Given the description of an element on the screen output the (x, y) to click on. 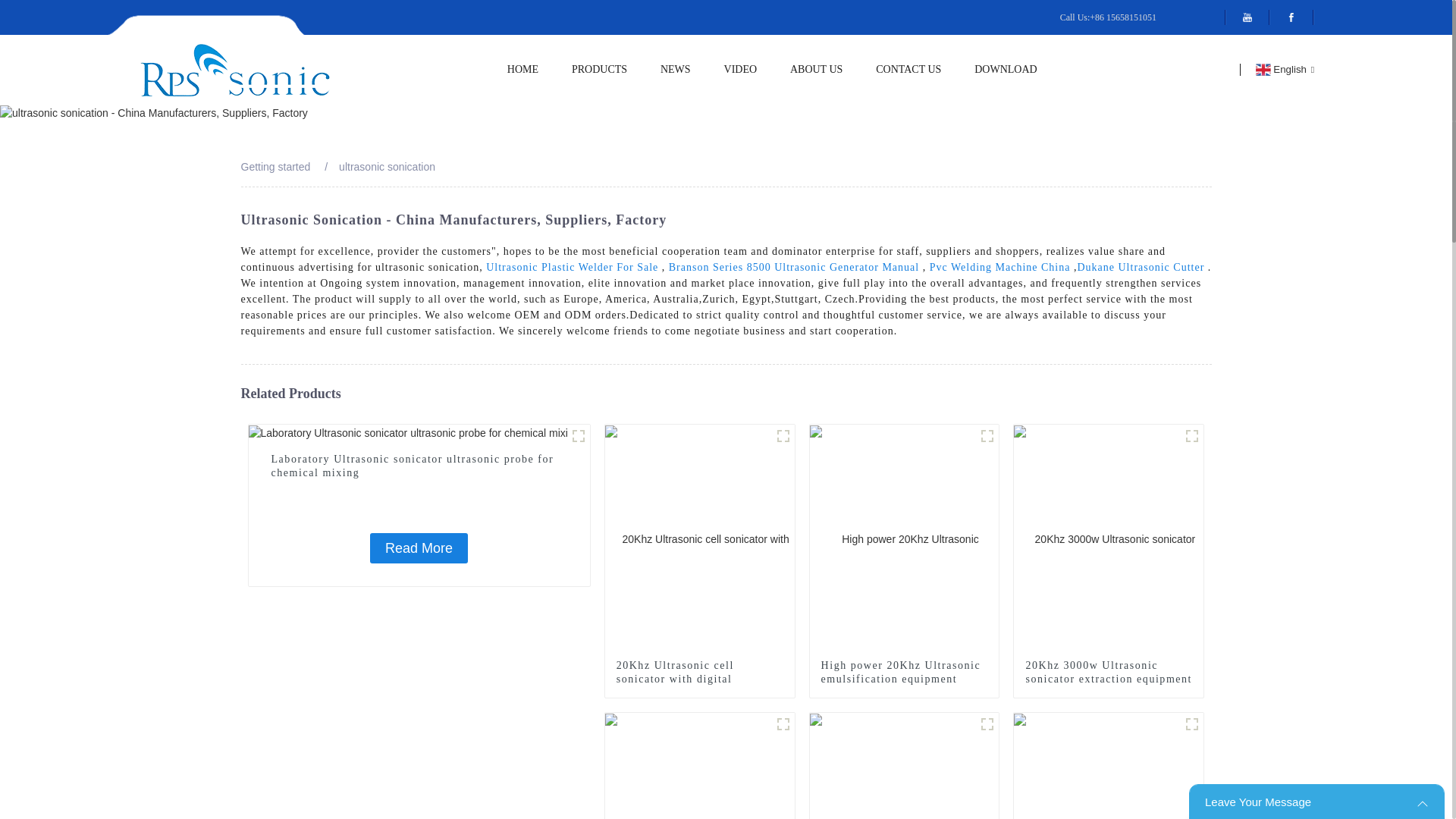
NEWS (675, 69)
HOME (522, 69)
ABOUT US (816, 69)
VIDEO (740, 69)
PRODUCTS (599, 69)
